Given the description of an element on the screen output the (x, y) to click on. 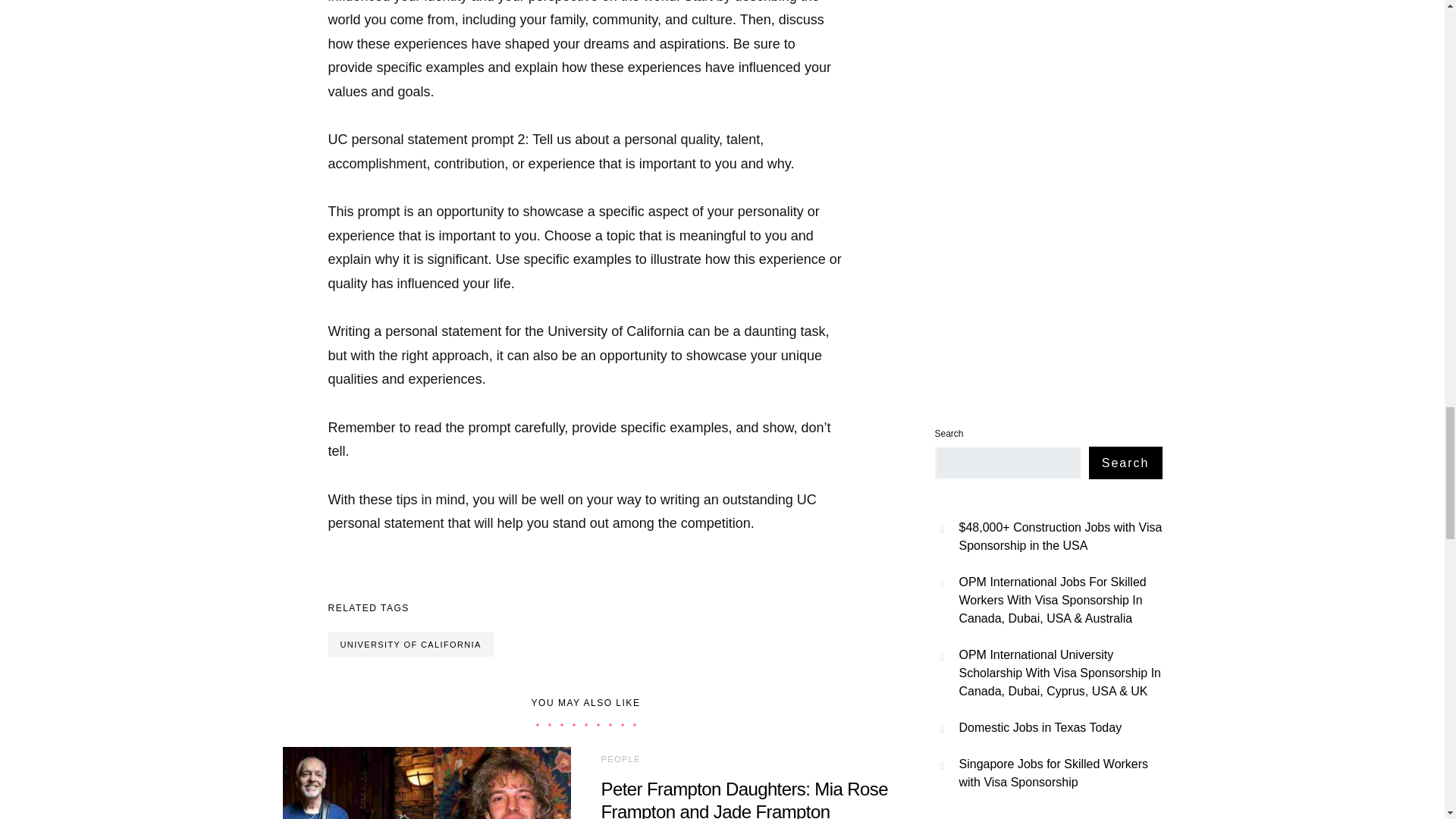
PEOPLE (619, 758)
UNIVERSITY OF CALIFORNIA (410, 644)
